Given the description of an element on the screen output the (x, y) to click on. 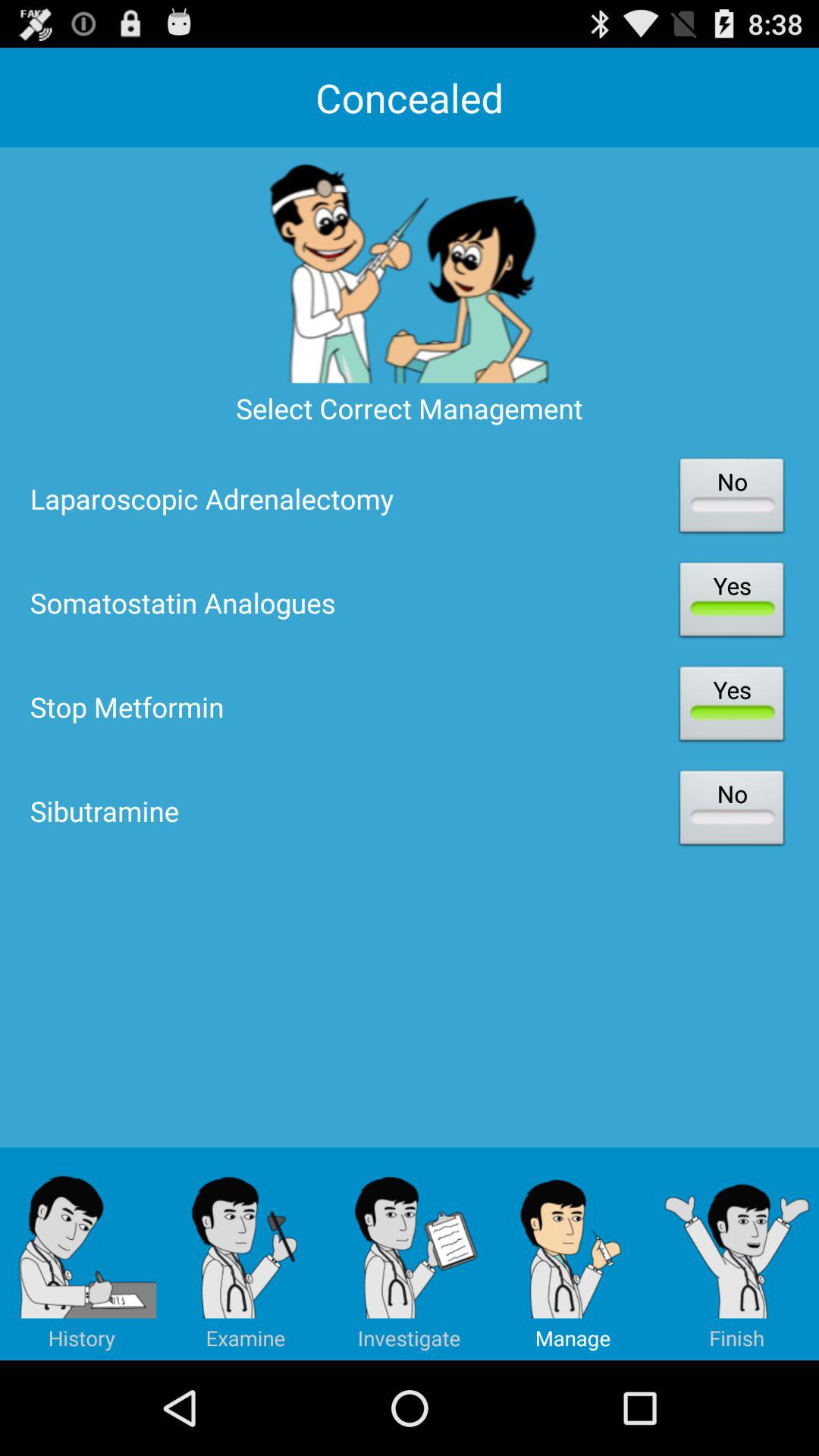
select the app below sibutramine item (409, 1253)
